Given the description of an element on the screen output the (x, y) to click on. 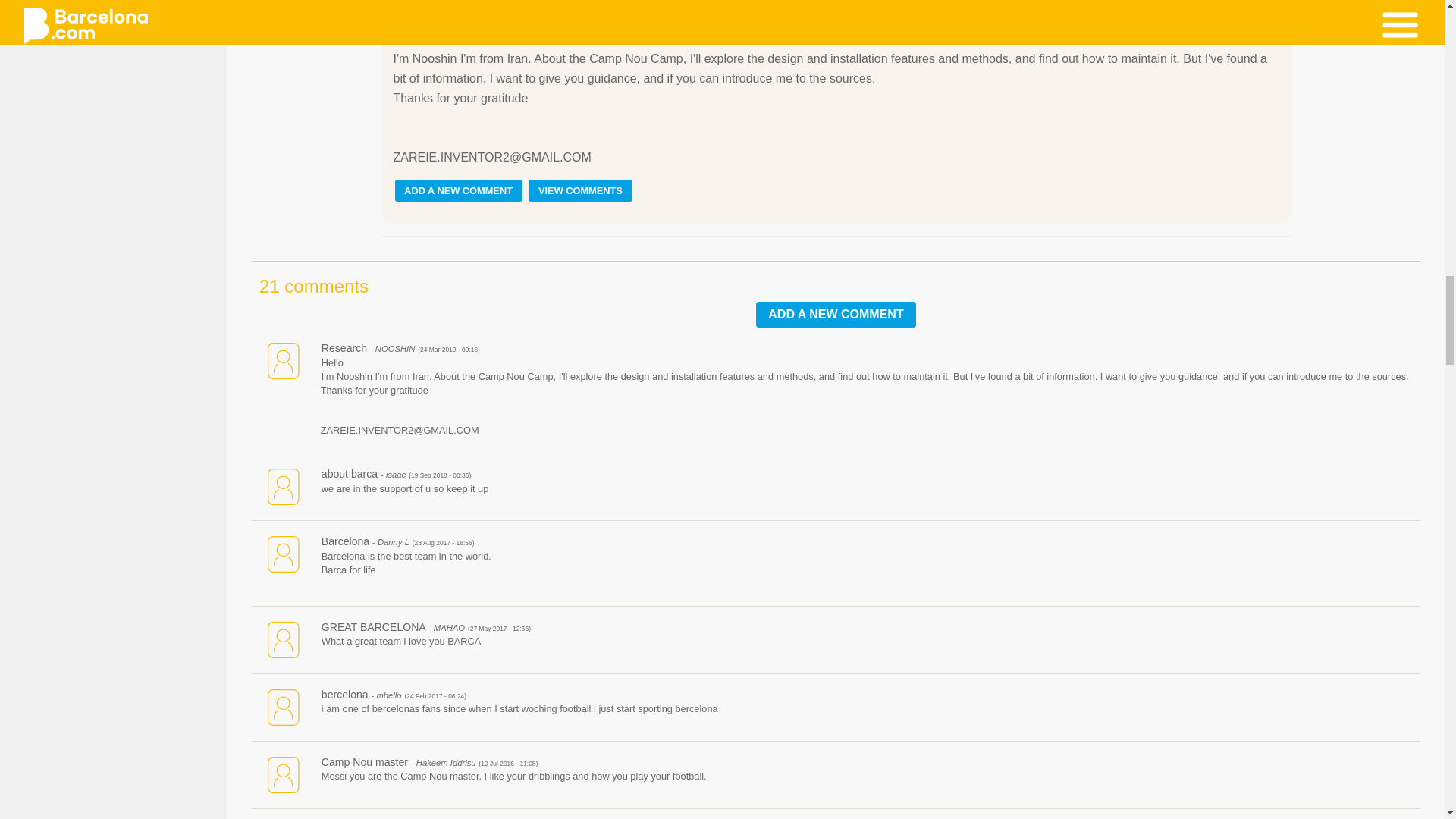
Add a new comment (835, 314)
ADD A NEW COMMENT (457, 190)
Add a new comment (835, 314)
VIEW COMMENTS (579, 190)
